Given the description of an element on the screen output the (x, y) to click on. 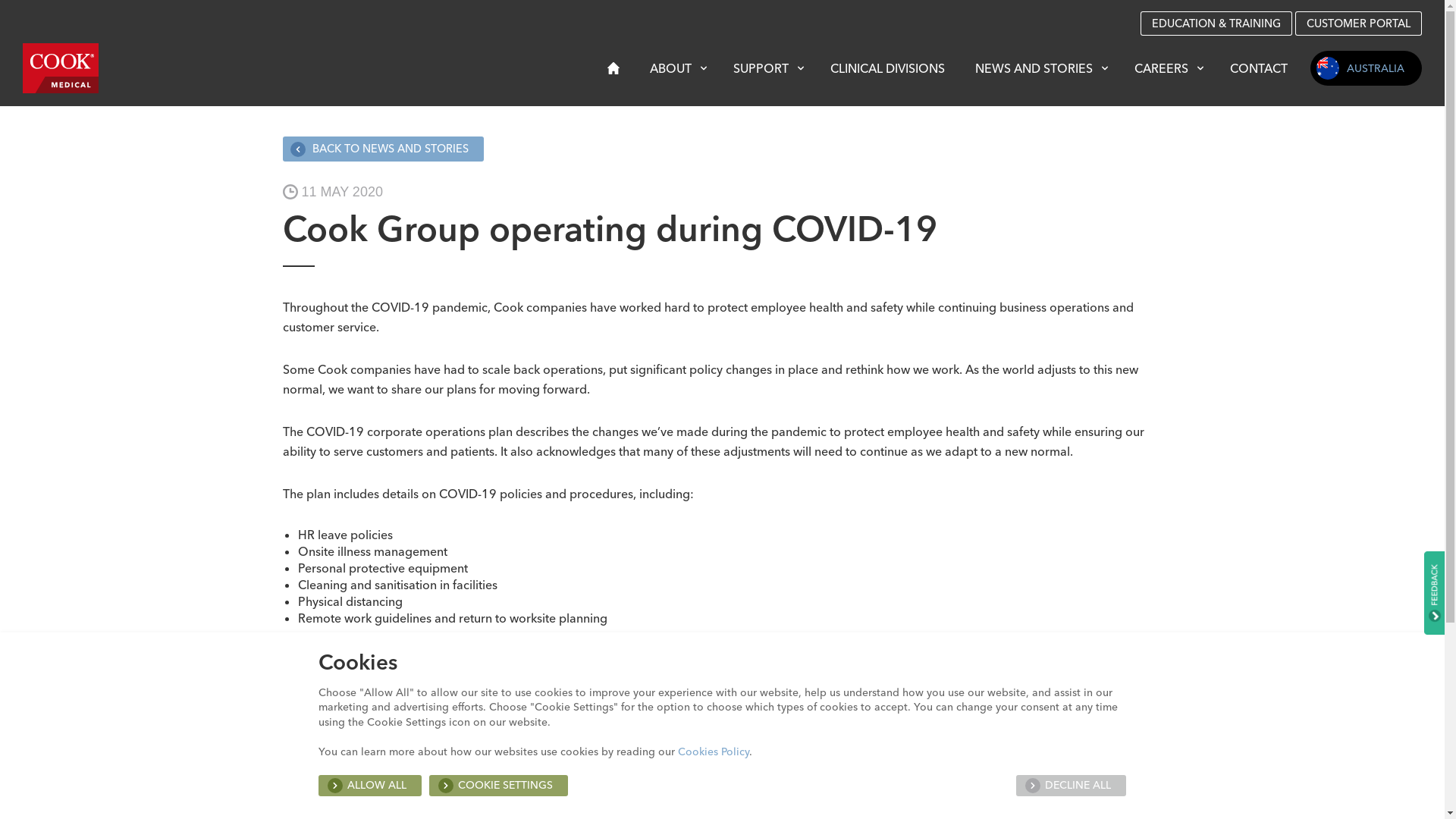
Facebook Live Element type: text (622, 770)
Cook Group Element type: text (611, 728)
ABOUT Element type: text (676, 67)
NEWS AND STORIES Element type: text (1039, 67)
CONTACT Element type: text (1258, 67)
CUSTOMER PORTAL Element type: text (1358, 23)
Cook Group Operations Plan Element type: text (938, 708)
ALLOW ALL Element type: text (369, 785)
CLINICAL DIVISIONS Element type: text (887, 67)
BACK TO NEWS AND STORIES Element type: text (382, 148)
CAREERS Element type: text (1166, 67)
COOKIE SETTINGS Element type: text (498, 785)
AUSTRALIA Element type: text (1365, 67)
Home Element type: hover (613, 69)
EDUCATION & TRAINING Element type: text (1216, 23)
SUPPORT Element type: text (766, 67)
Cook Medical Logo Element type: hover (60, 66)
Cookies Policy Element type: text (713, 751)
DECLINE ALL Element type: text (1071, 785)
